Given the description of an element on the screen output the (x, y) to click on. 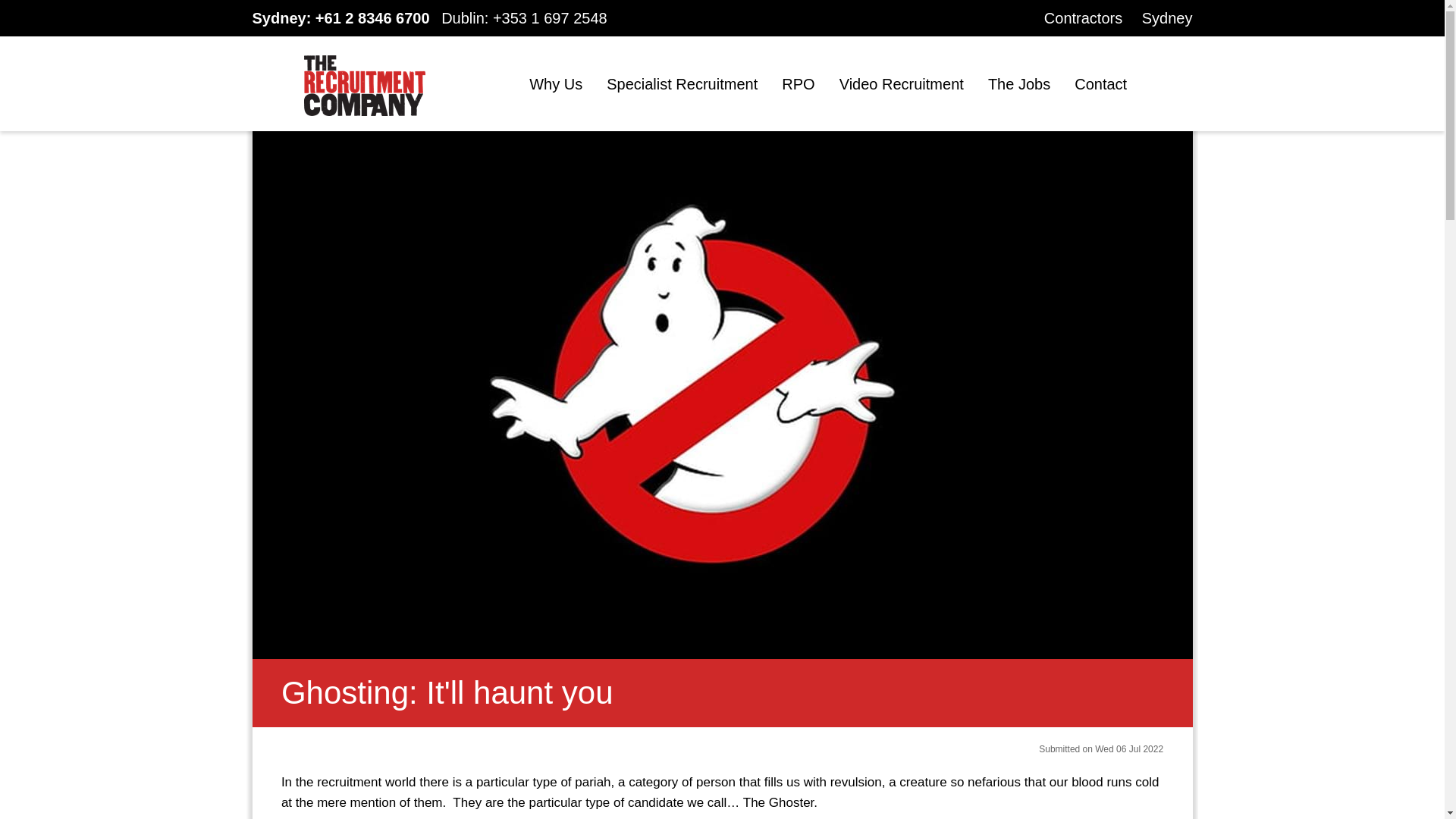
Video Recruitment (901, 84)
Why Us (556, 84)
Contact (1100, 84)
Specialist Recruitment (681, 84)
Contractors (1082, 17)
RPO (797, 84)
Sydney (1166, 17)
The Jobs (1018, 84)
